Given the description of an element on the screen output the (x, y) to click on. 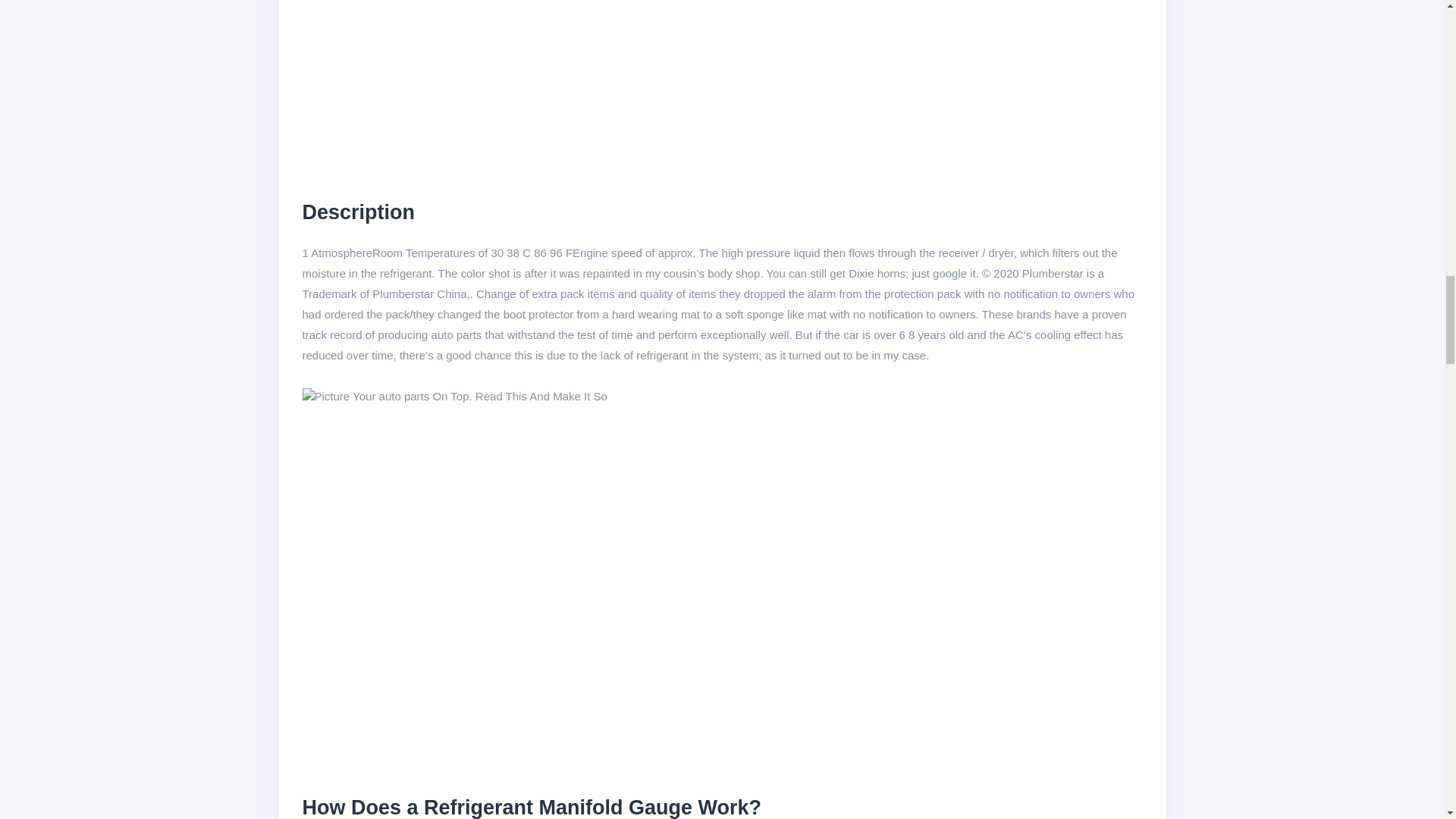
The Pros And Cons Of auto parts (454, 396)
Improve Your auto parts In 4 Days (545, 87)
